Given the description of an element on the screen output the (x, y) to click on. 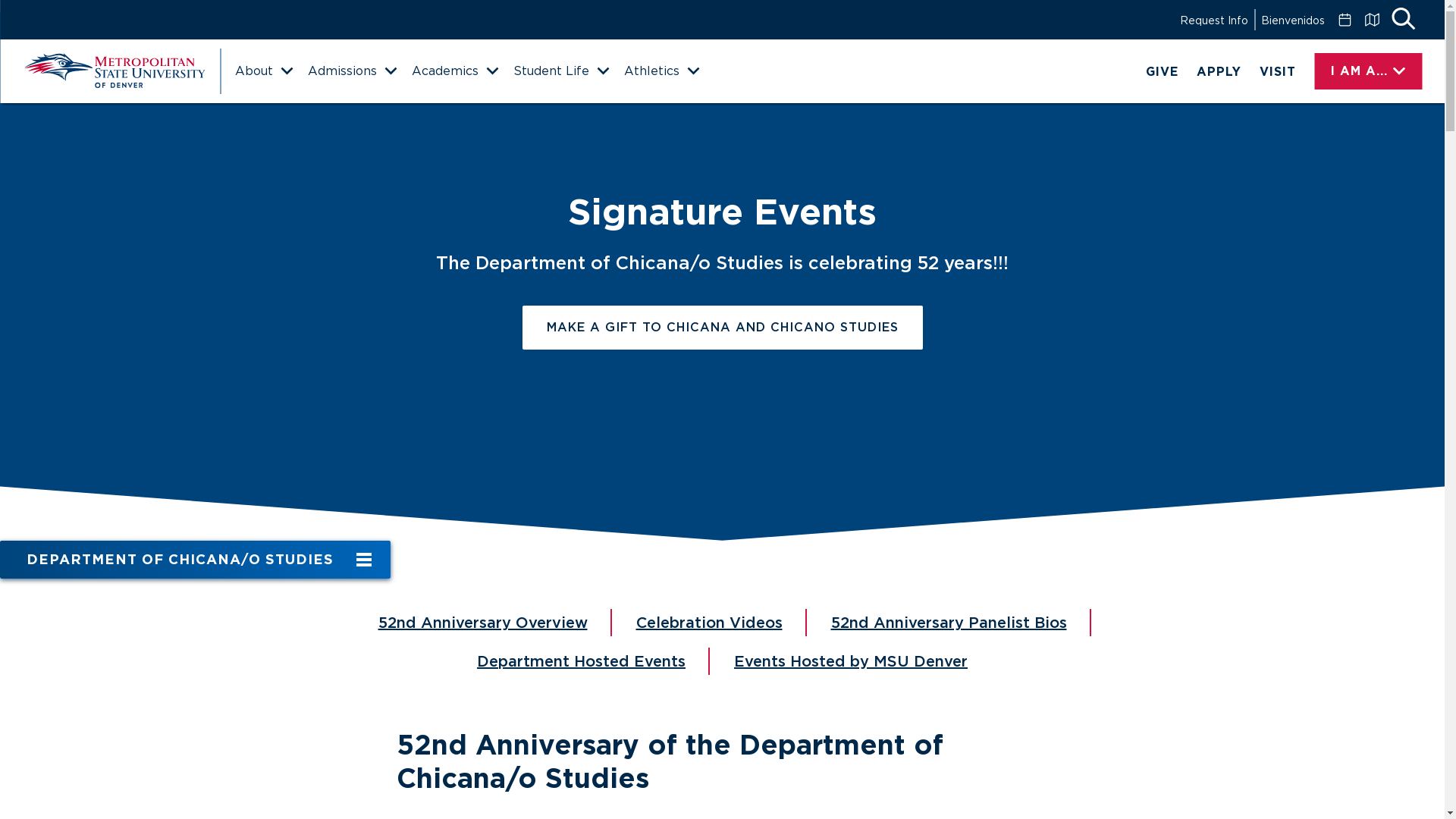
Map (1371, 19)
52nd Anniversary Overview (481, 622)
52nd Anniversary Panelist Bios (949, 622)
Search (1403, 19)
Department Hosted Events (581, 660)
MSU Denver (114, 70)
Request Info (1213, 20)
Events Hosted by MSU Denver (850, 660)
About (263, 71)
